Given the description of an element on the screen output the (x, y) to click on. 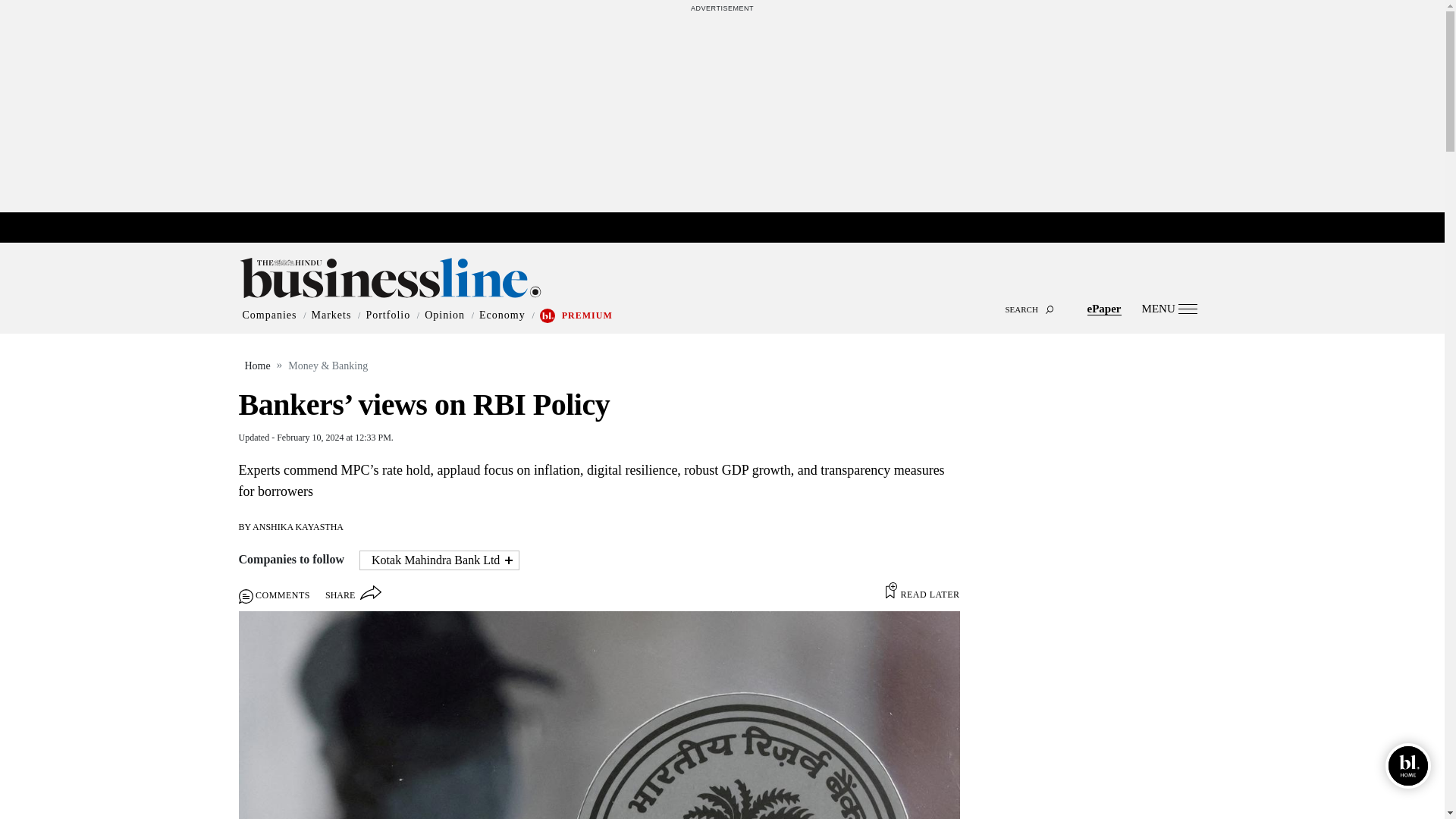
ePaper (1104, 308)
marketupdate (729, 228)
MENU (1168, 308)
PREMIUM (587, 315)
Economy (502, 315)
Opinion (444, 315)
Companies (270, 315)
Portfolio (387, 315)
SEARCH (721, 295)
